Given the description of an element on the screen output the (x, y) to click on. 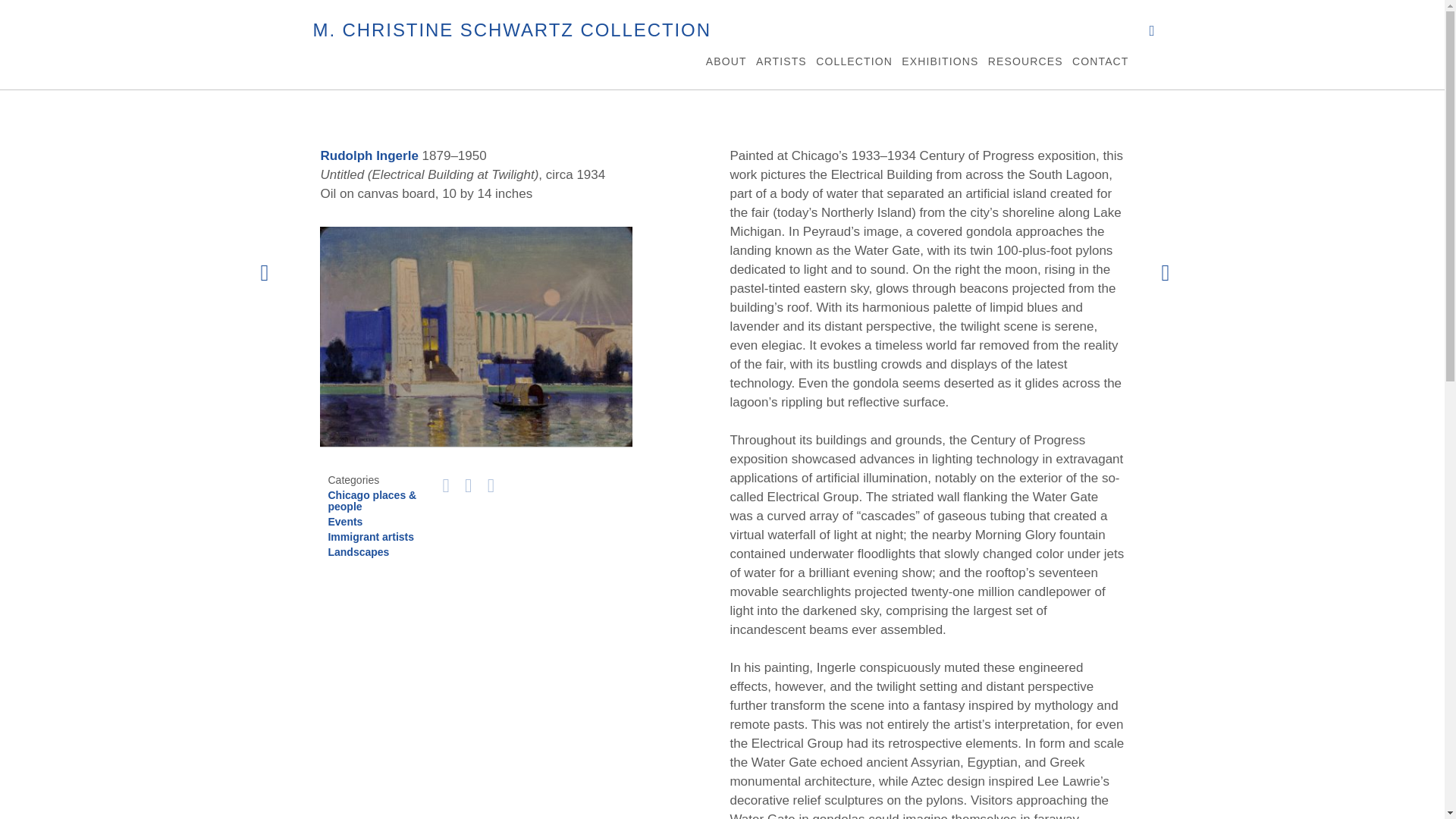
Rudolph Ingerle (368, 155)
RESOURCES (1025, 62)
ARTISTS (780, 62)
CONTACT (1099, 62)
Immigrant artists (370, 536)
ABOUT (726, 62)
EXHIBITIONS (939, 62)
Landscapes (357, 551)
COLLECTION (853, 62)
Events (344, 521)
M. CHRISTINE SCHWARTZ COLLECTION (511, 30)
